Given the description of an element on the screen output the (x, y) to click on. 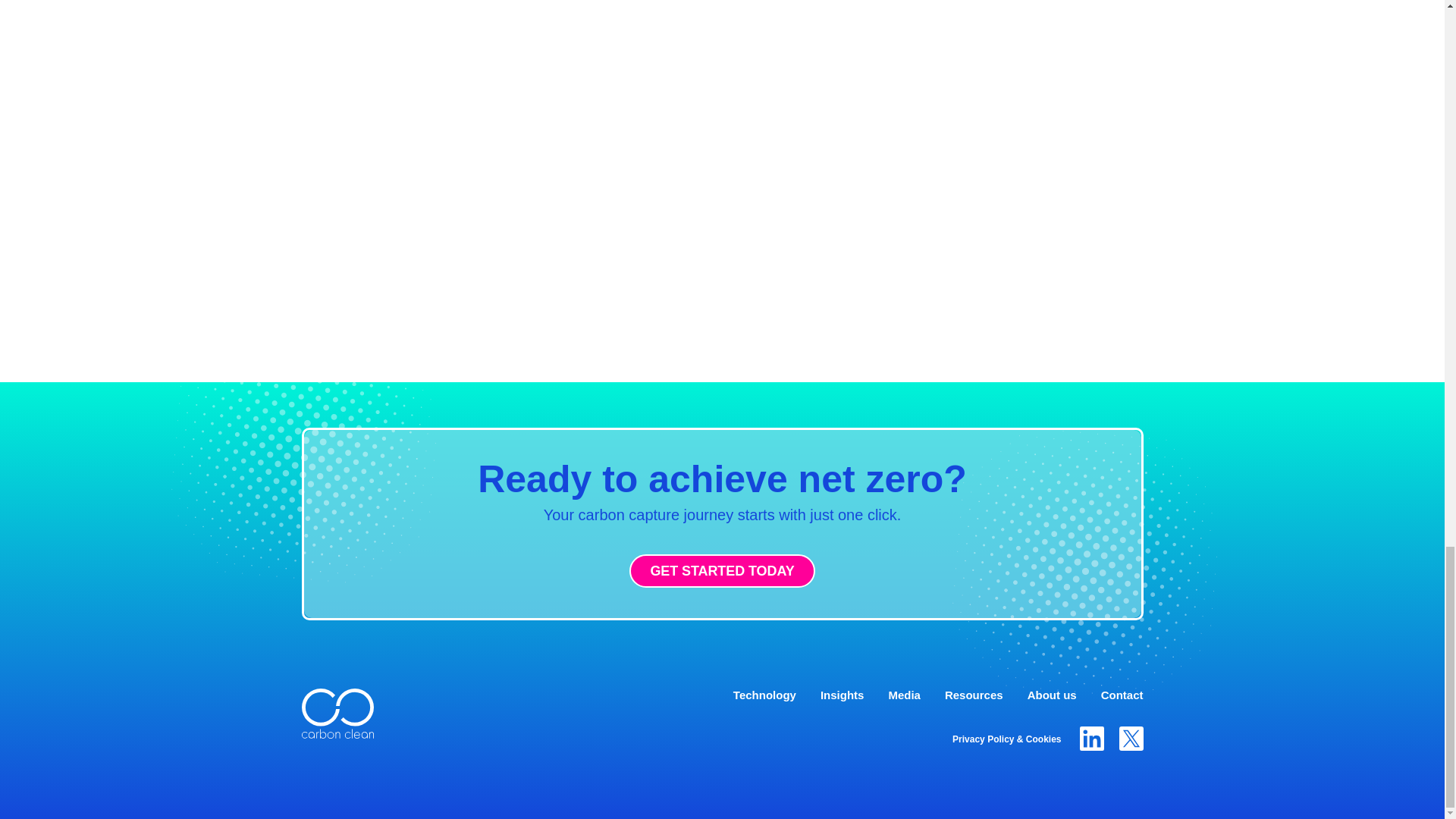
Resources (973, 694)
About us (1052, 694)
Media (904, 694)
GET STARTED TODAY (720, 571)
Technology (764, 694)
Contact (1121, 694)
Insights (842, 694)
